Given the description of an element on the screen output the (x, y) to click on. 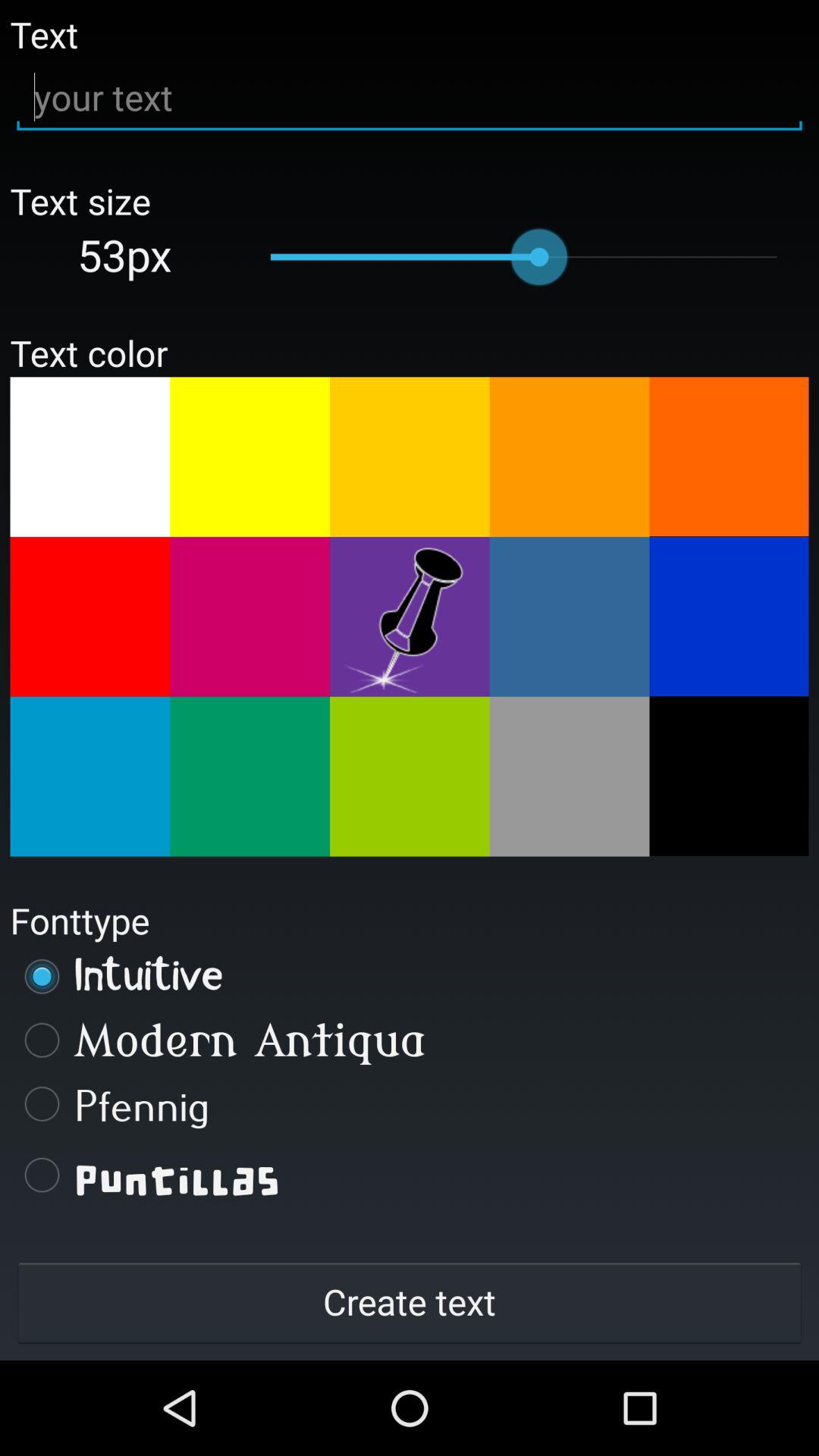
color selection (249, 616)
